Given the description of an element on the screen output the (x, y) to click on. 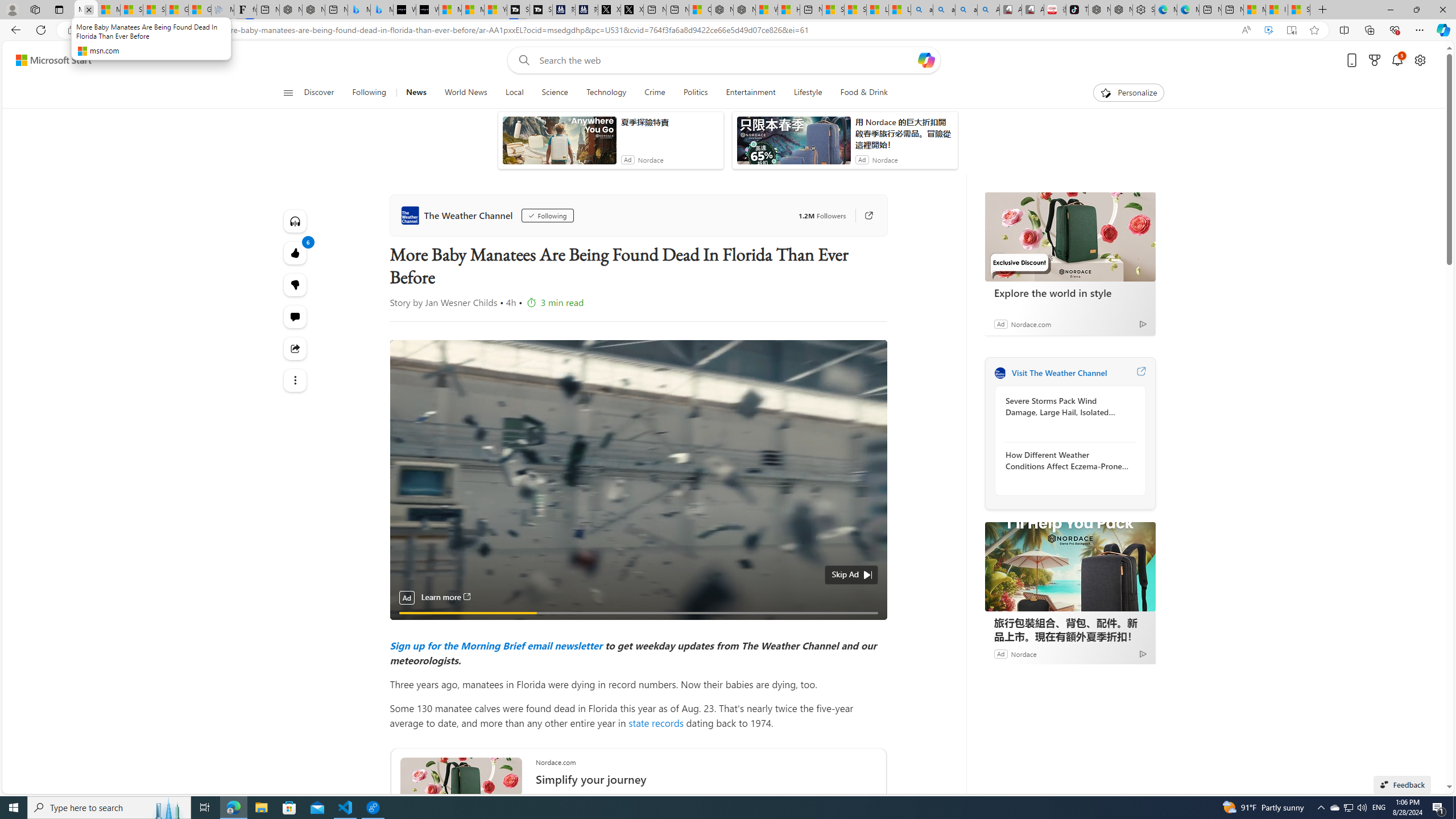
Science (554, 92)
Gilma and Hector both pose tropical trouble for Hawaii (199, 9)
Nordace - Best Sellers (1099, 9)
News (415, 92)
Nordace.com (1030, 323)
Go to publisher's site (868, 215)
Share this story (295, 348)
How Different Weather Conditions Affect Eczema-Prone Skin (1066, 459)
TikTok (1077, 9)
Microsoft rewards (1374, 60)
Sign up for the Morning Brief email newsletter (496, 644)
